Given the description of an element on the screen output the (x, y) to click on. 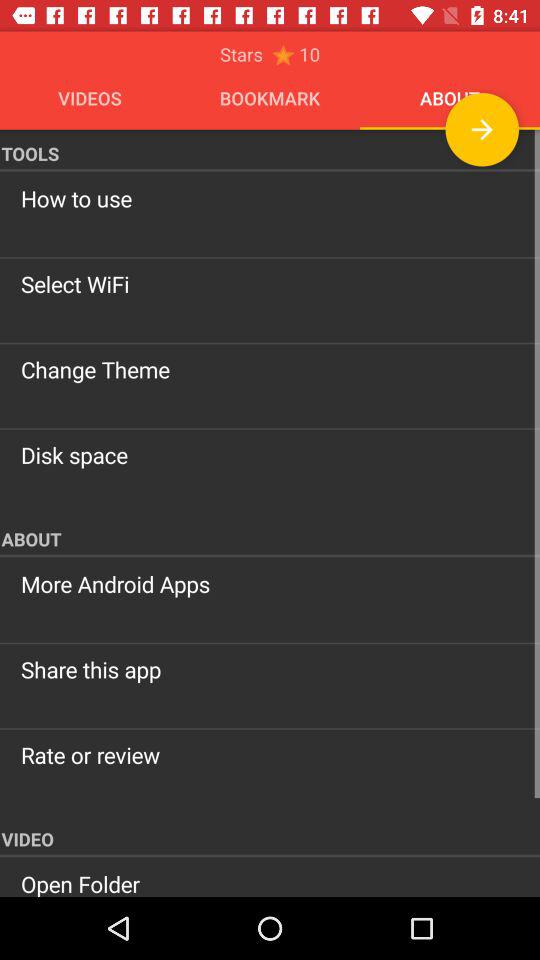
choose the icon above the disk space item (270, 369)
